Given the description of an element on the screen output the (x, y) to click on. 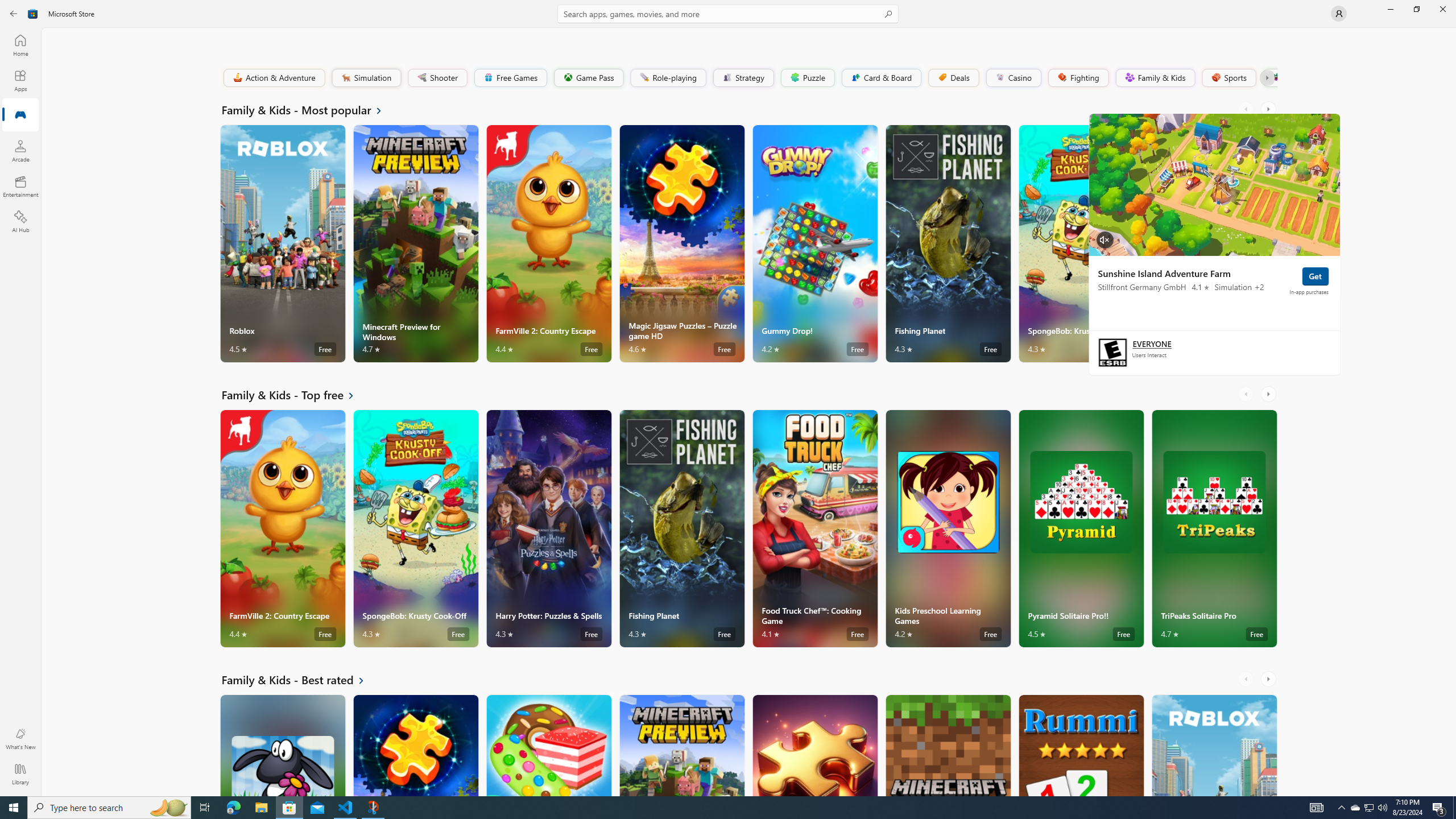
Get (1314, 275)
Close Microsoft Store (1442, 9)
Sports (1228, 77)
Class: Image (1274, 76)
AutomationID: LeftScrollButton (1246, 678)
Action & Adventure (273, 77)
Shooter (436, 77)
AutomationID: Image (1214, 183)
Role-playing (668, 77)
